Given the description of an element on the screen output the (x, y) to click on. 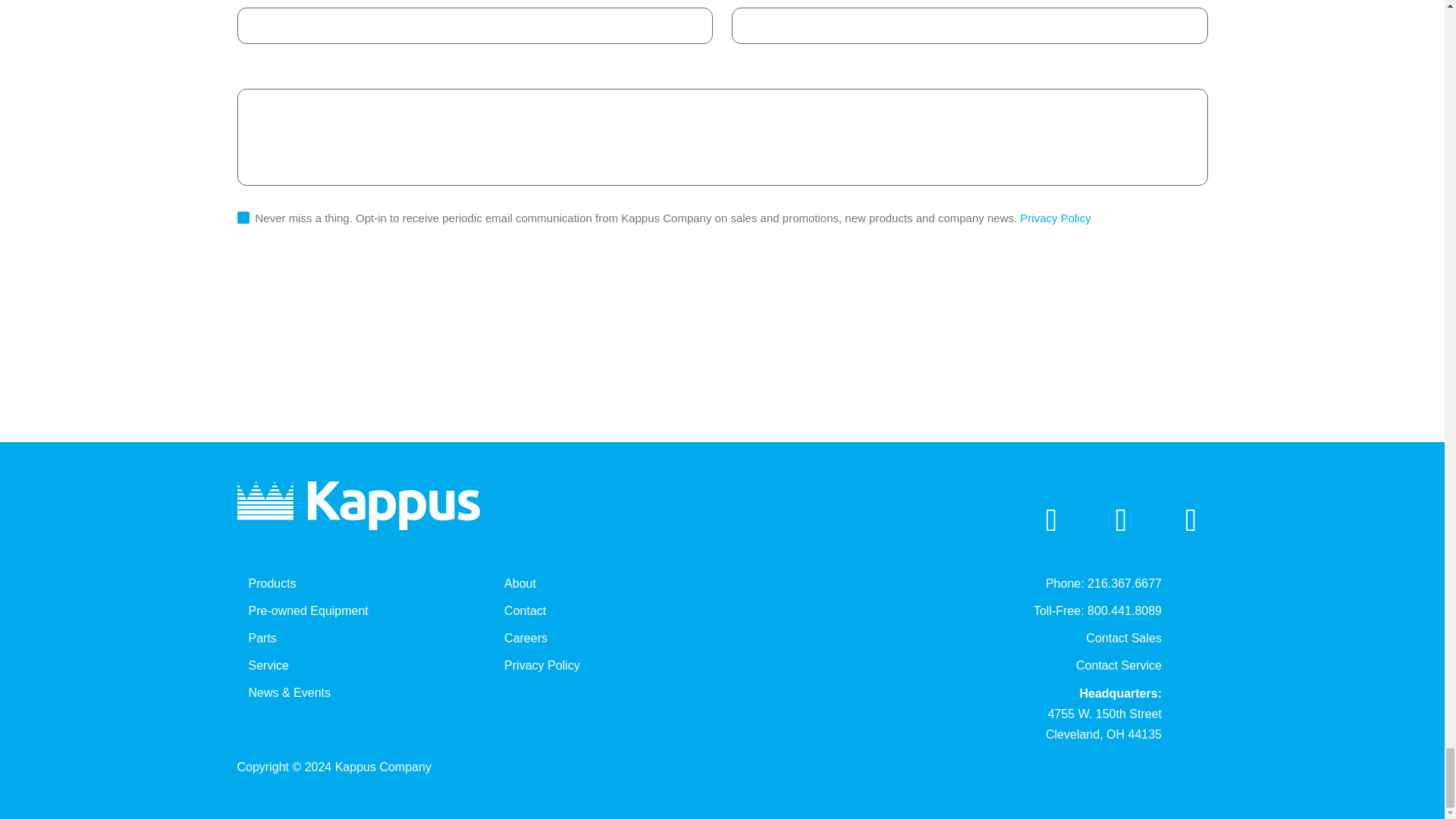
Follow on Instagram (1190, 520)
Follow on Facebook (1121, 520)
Submit (279, 294)
Follow on LinkedIn (1051, 520)
Kappus Logo (357, 505)
